Given the description of an element on the screen output the (x, y) to click on. 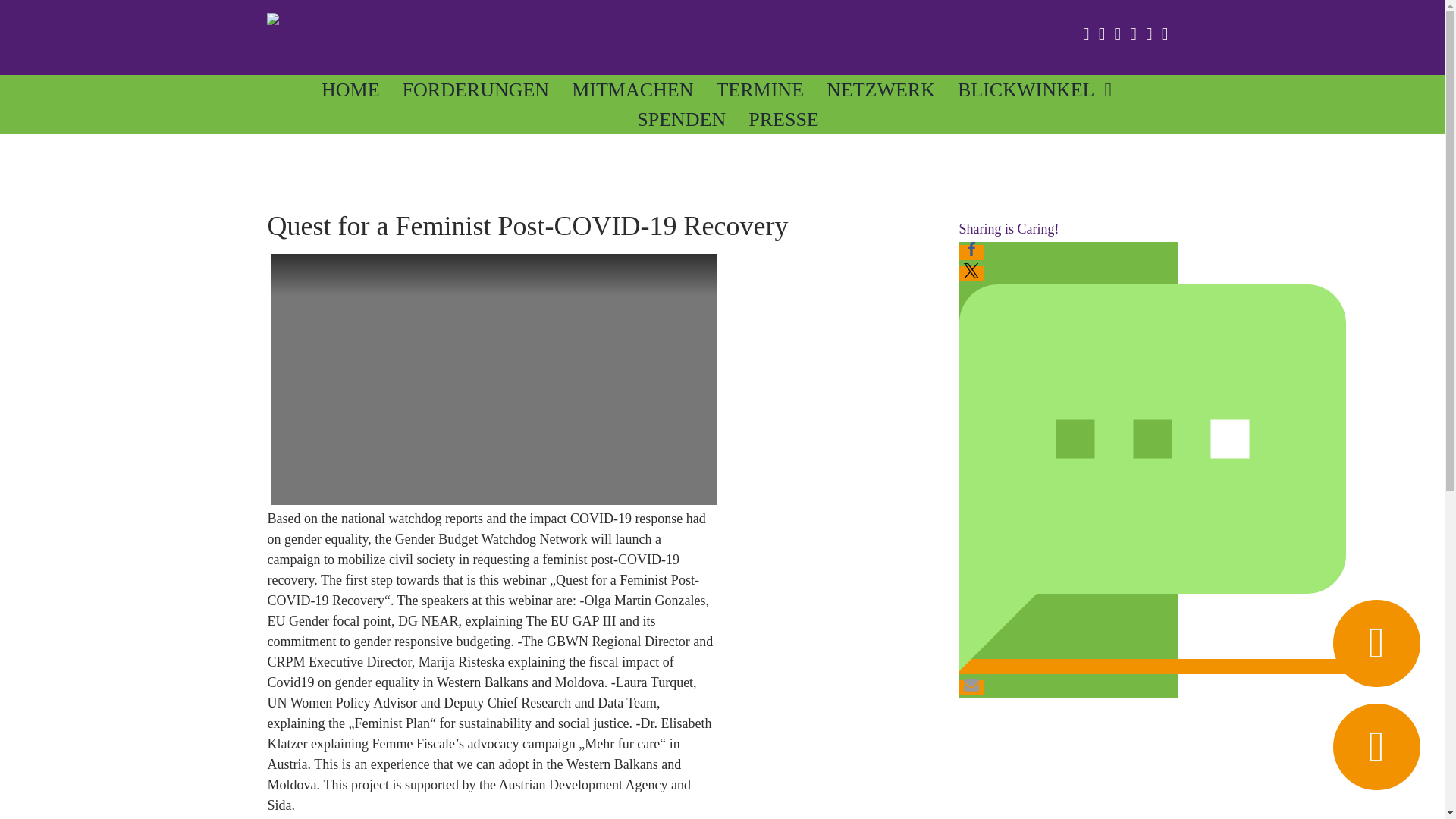
TERMINE (759, 89)
BLICKWINKEL (1035, 89)
Bei Facebook teilen (970, 252)
Per E-Mail versenden (970, 687)
NETZWERK (880, 89)
Bei X teilen (970, 273)
HOME (350, 89)
Per SMS teilen (1151, 666)
MITMACHEN (632, 89)
FORDERUNGEN (476, 89)
